Given the description of an element on the screen output the (x, y) to click on. 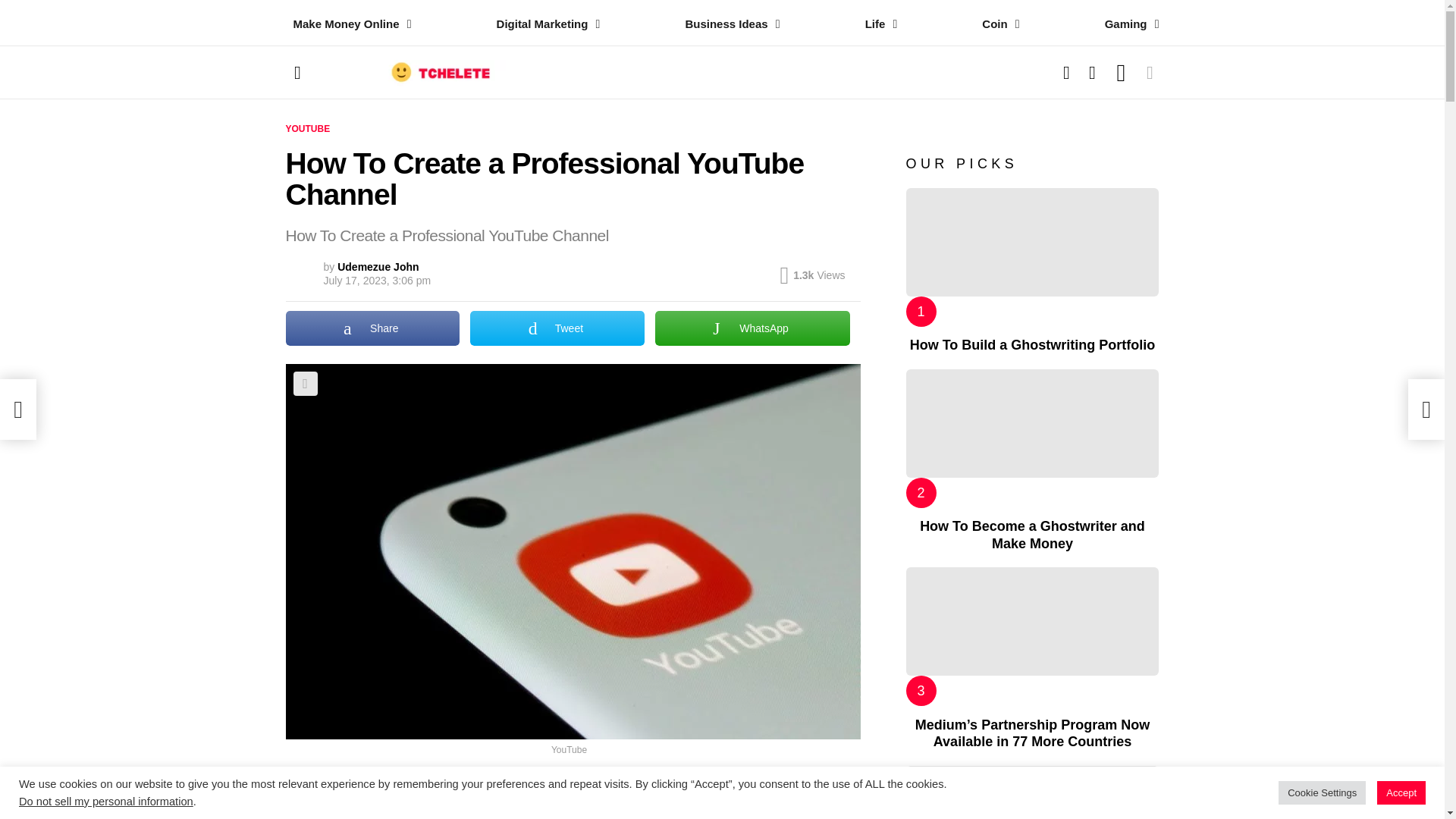
Digital Marketing (544, 24)
Make Money Online (347, 24)
Share on Share (372, 328)
Posts by Udemezue John (378, 266)
Share on WhatsApp (752, 328)
Life (877, 24)
Business Ideas (727, 24)
Share on Tweet (557, 328)
